Given the description of an element on the screen output the (x, y) to click on. 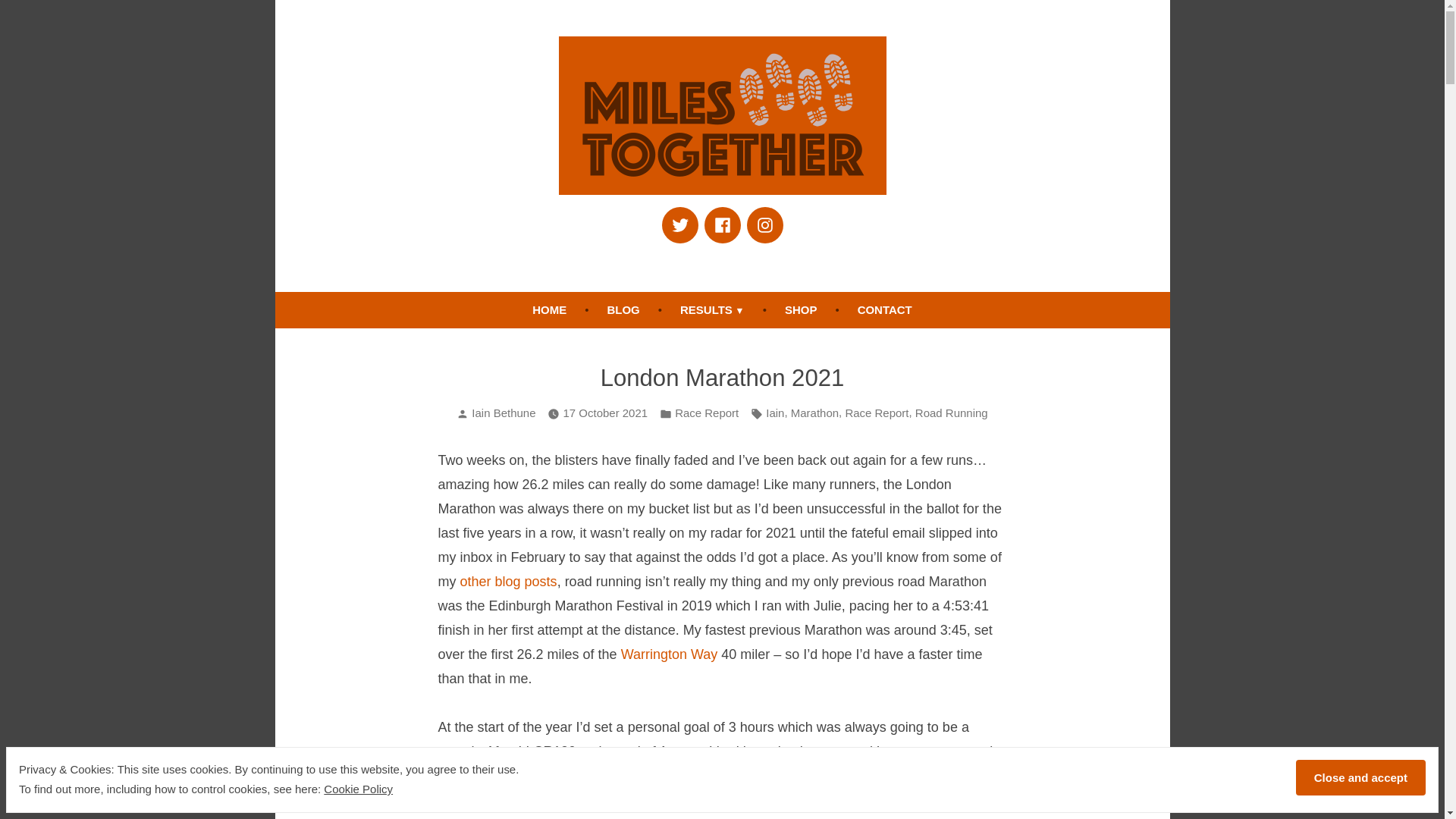
Instagram (764, 225)
BLOG (622, 309)
Warrington Way (669, 654)
Twitter (679, 225)
Race Report (876, 413)
RESULTS (712, 309)
Instagram: Miles Together (764, 225)
Twitter: Miles Together (679, 225)
Miles Together (649, 219)
Iain Bethune (503, 412)
17 October 2021 (604, 413)
Iain (774, 413)
SHOP (800, 309)
Facebook (721, 225)
